Given the description of an element on the screen output the (x, y) to click on. 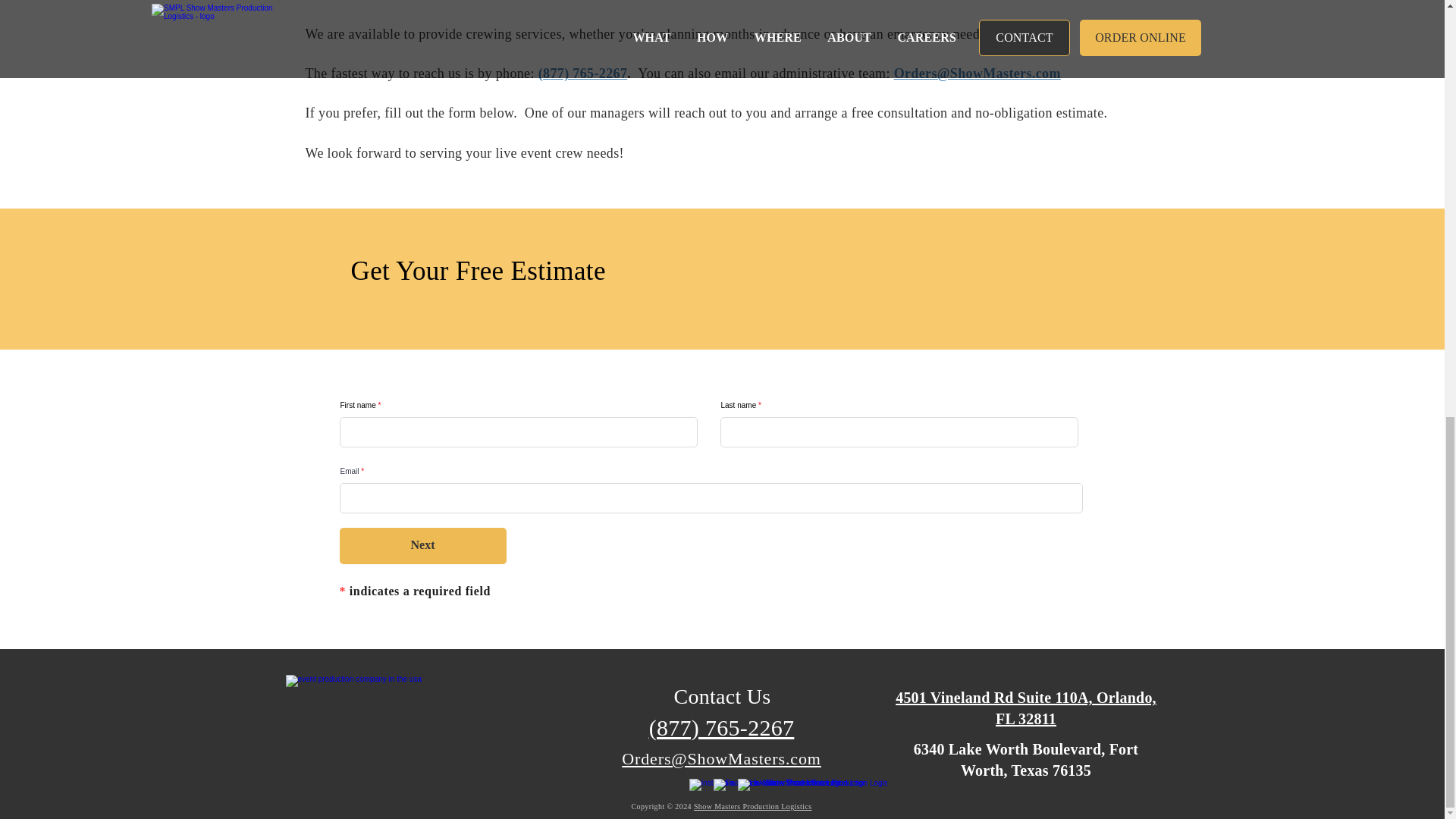
event production company in the usa (389, 726)
Show Masters Production Logistics (753, 806)
Next (422, 545)
4501 Vineland Rd Suite 110A, Orlando, FL 32811 (1025, 708)
